Given the description of an element on the screen output the (x, y) to click on. 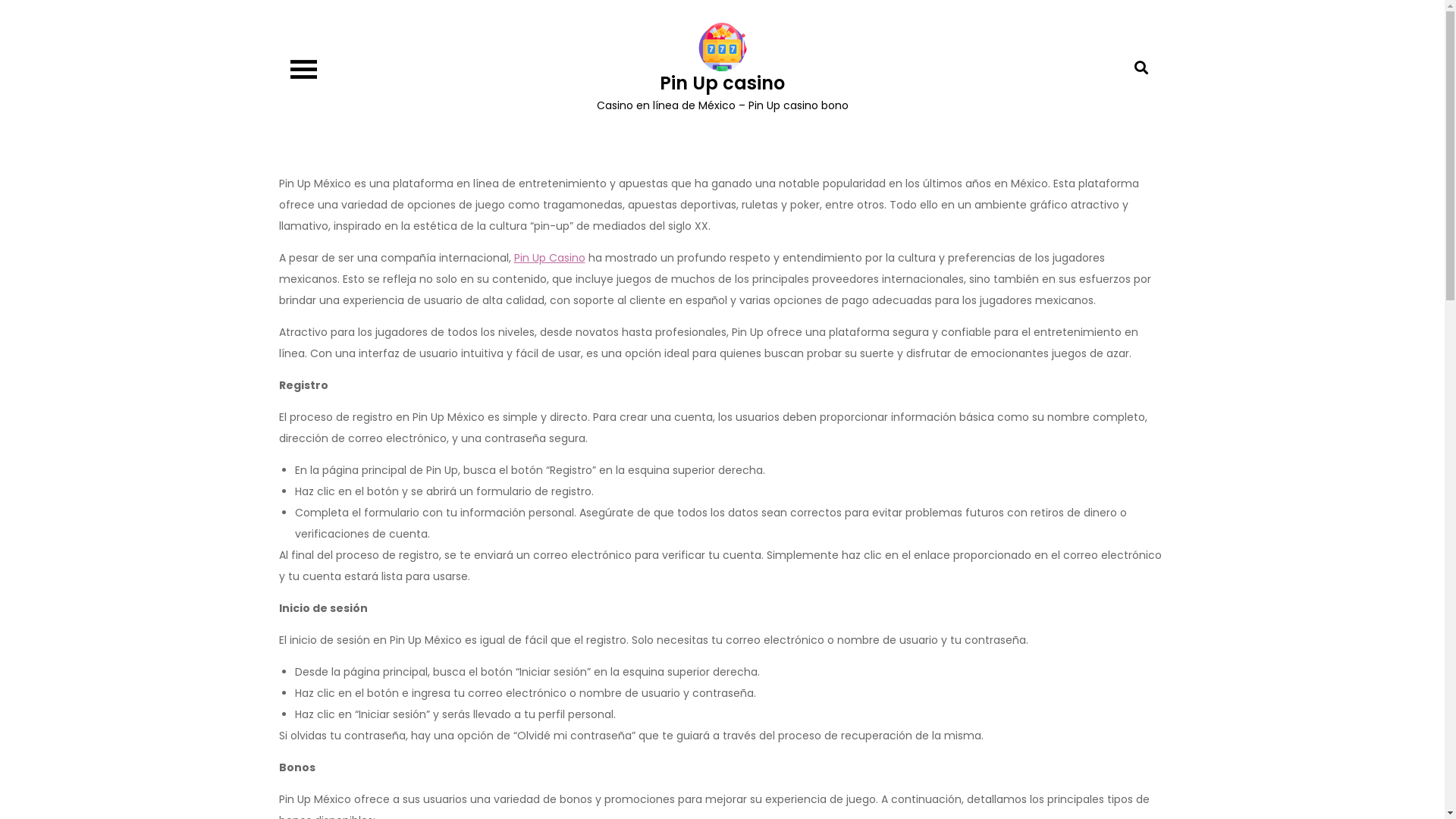
Pin Up Casino Element type: text (549, 257)
Pin Up casino Element type: text (721, 82)
